Given the description of an element on the screen output the (x, y) to click on. 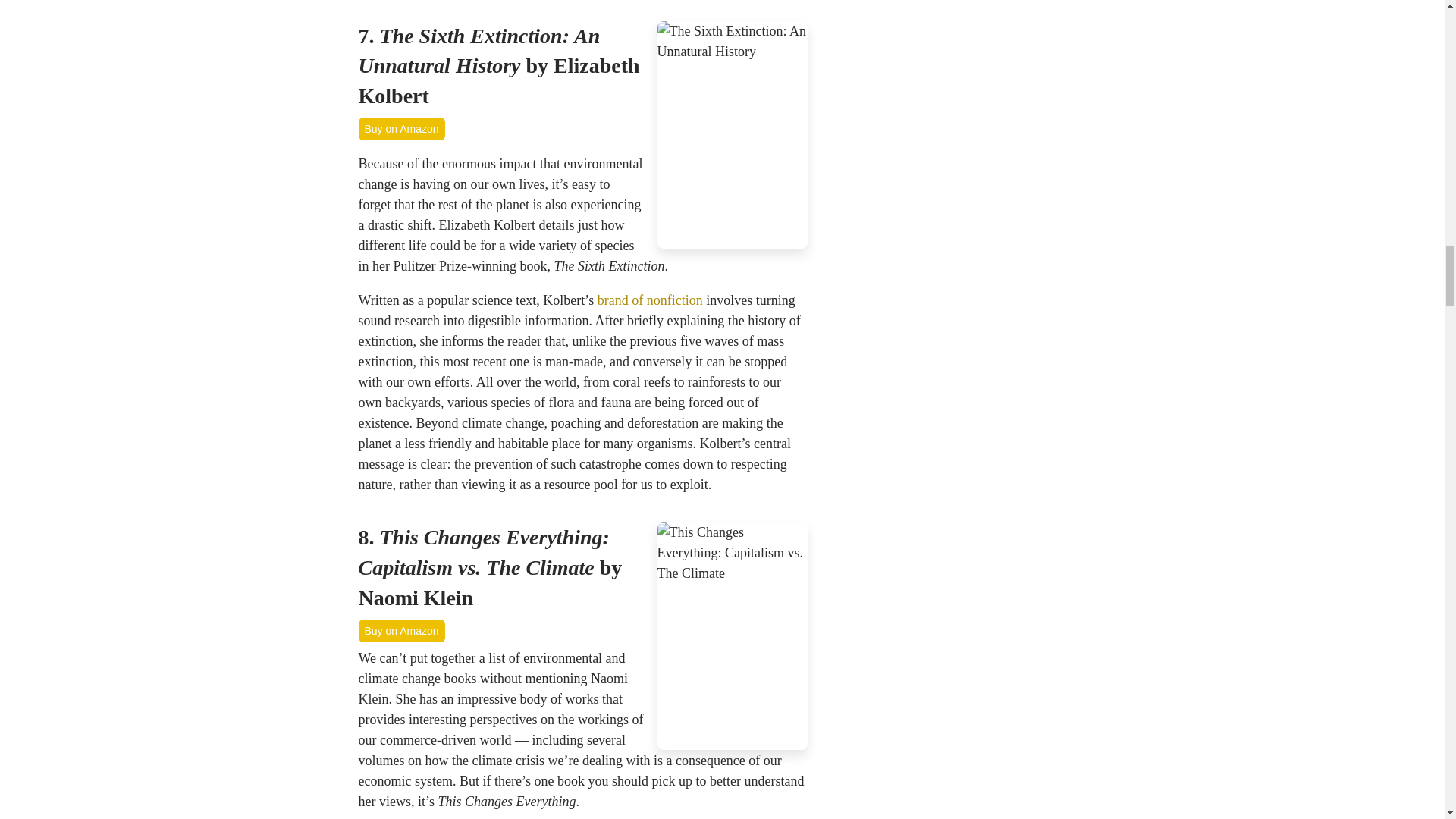
Buy on Amazon (401, 128)
Buy on Amazon (401, 630)
brand of nonfiction (649, 299)
